Given the description of an element on the screen output the (x, y) to click on. 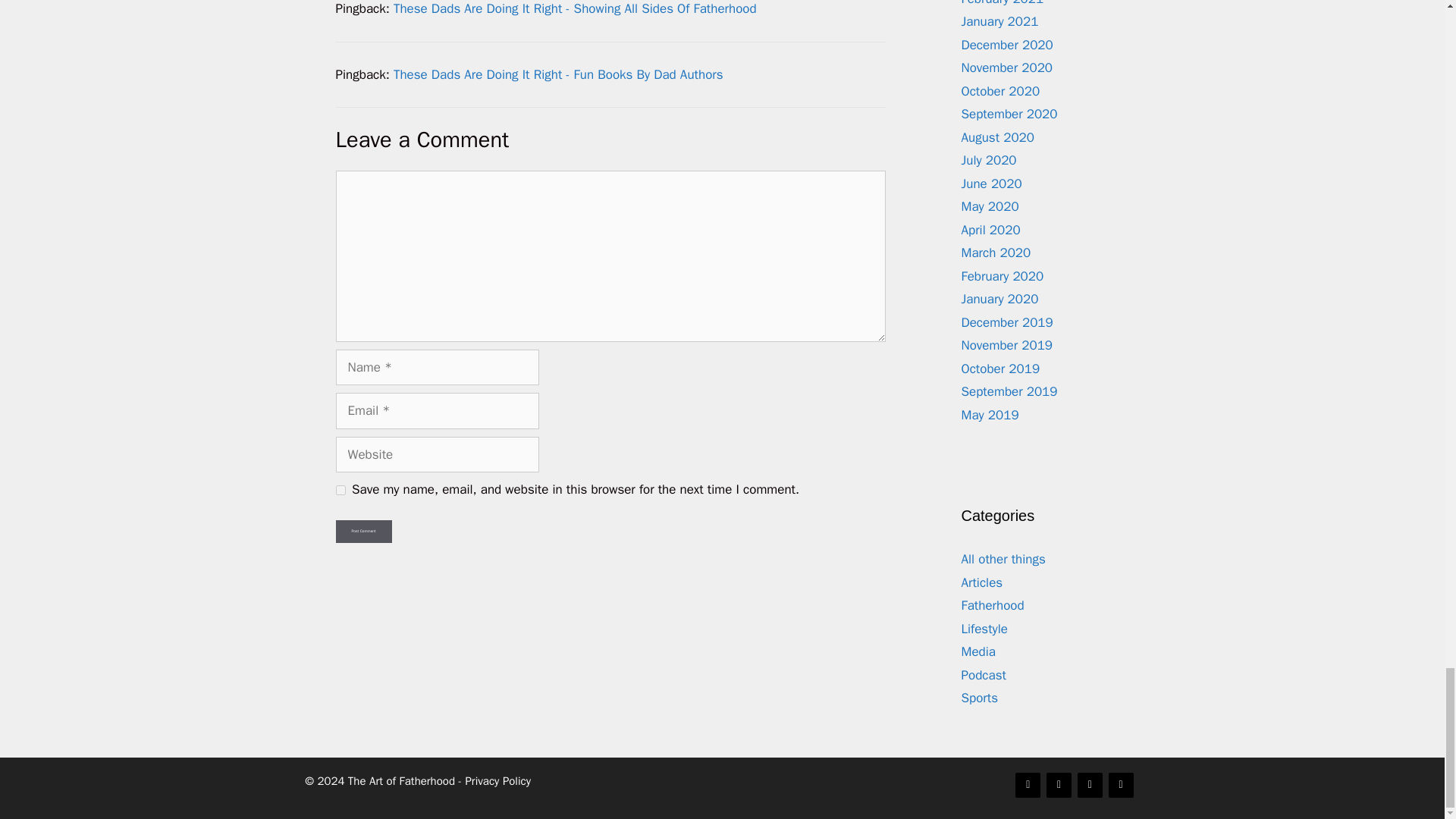
Facebook (1027, 785)
Post Comment (362, 531)
yes (339, 490)
YouTube (1121, 785)
Twitter (1058, 785)
Instagram (1089, 785)
